Given the description of an element on the screen output the (x, y) to click on. 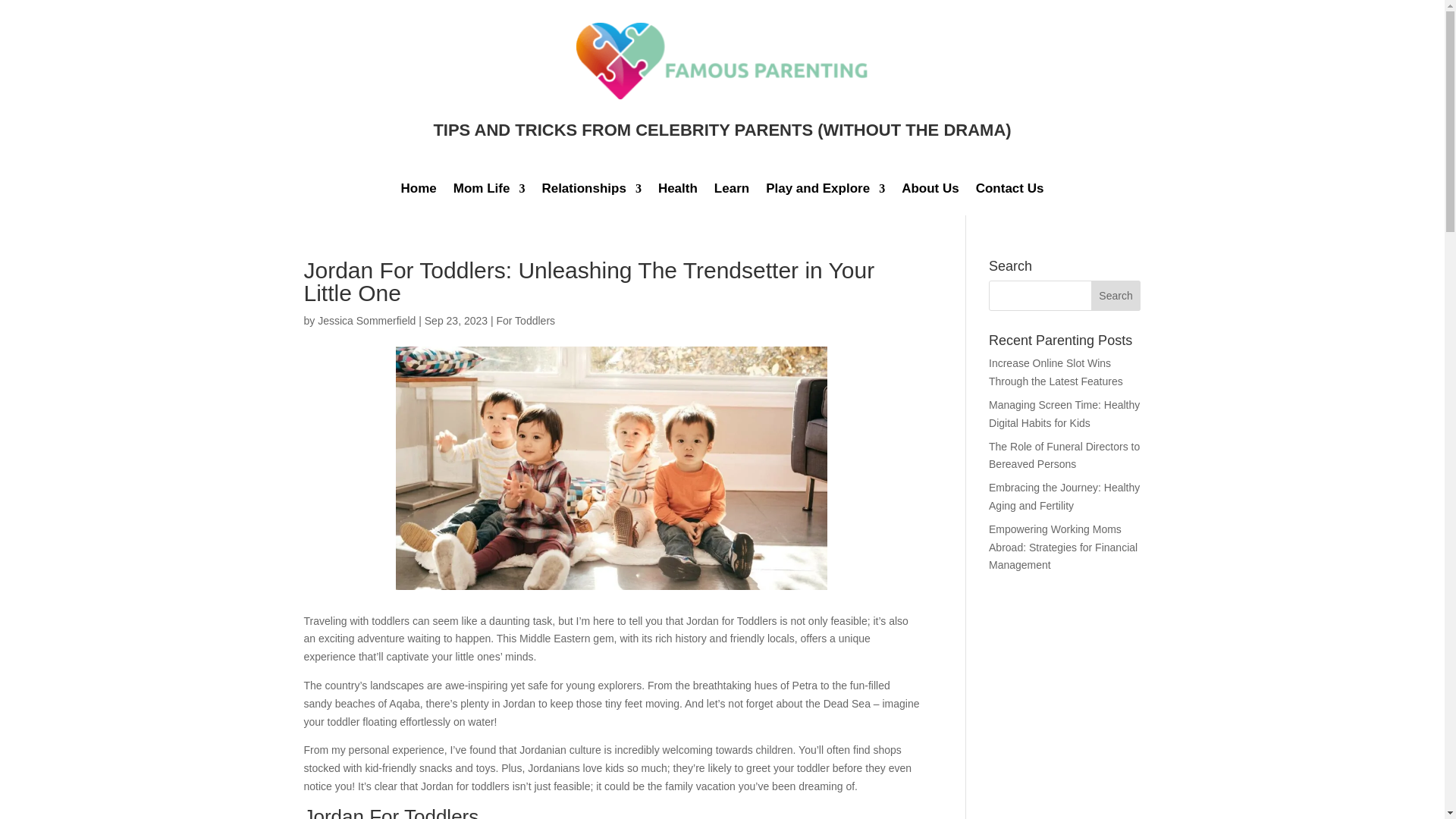
Managing Screen Time: Healthy Digital Habits for Kids (1064, 413)
Phone Number FamousParenting (1009, 191)
Mom Life (488, 191)
Health (677, 191)
The Role of Funeral Directors to Bereaved Persons (1064, 455)
About Us (930, 191)
Increase Online Slot Wins Through the Latest Features (1055, 372)
Embracing the Journey: Healthy Aging and Fertility (1064, 496)
About Famous Parenting (930, 191)
Relationships (590, 191)
Home (418, 191)
Posts by Jessica Sommerfield (365, 320)
Learn (731, 191)
Famous Parenting Health (677, 191)
Contact Us (1009, 191)
